Given the description of an element on the screen output the (x, y) to click on. 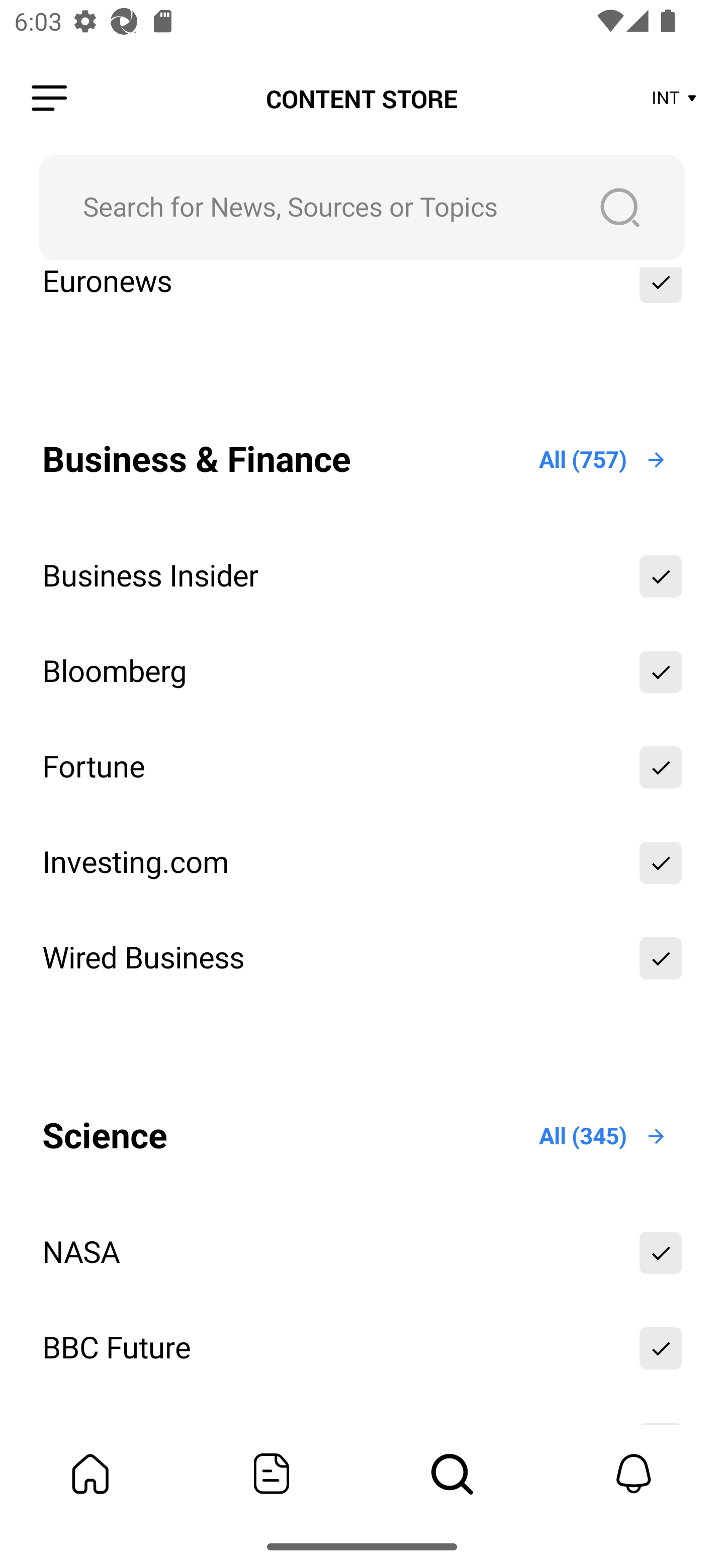
INT Store Area (674, 98)
Leading Icon (49, 98)
Search for News, Sources or Topics Search Button (361, 207)
Euronews Add To My Bundle (361, 296)
Add To My Bundle (660, 296)
All (757) Open All Icon (603, 459)
Business Insider Add To My Bundle (361, 576)
Add To My Bundle (660, 576)
Bloomberg Add To My Bundle (361, 671)
Add To My Bundle (660, 671)
Fortune Add To My Bundle (361, 766)
Add To My Bundle (660, 766)
Investing.com Add To My Bundle (361, 862)
Add To My Bundle (660, 862)
Wired Business Add To My Bundle (361, 957)
Add To My Bundle (660, 957)
All (345) Open All Icon (603, 1136)
NASA Add To My Bundle (361, 1252)
Add To My Bundle (660, 1252)
BBC Future Add To My Bundle (361, 1348)
Add To My Bundle (660, 1348)
My Bundle (90, 1473)
Featured (271, 1473)
Notifications (633, 1473)
